Given the description of an element on the screen output the (x, y) to click on. 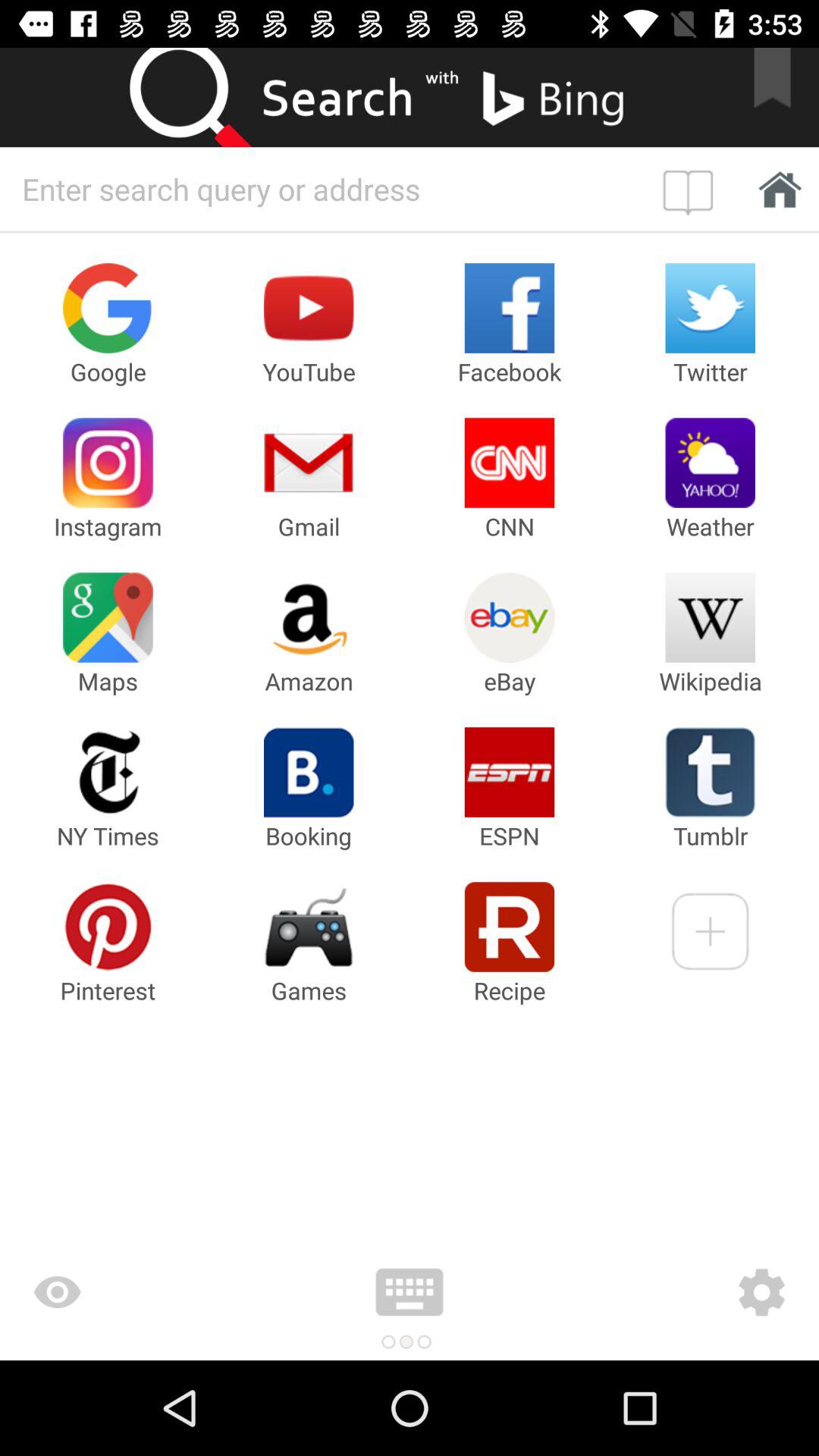
enter search characters (327, 189)
